Given the description of an element on the screen output the (x, y) to click on. 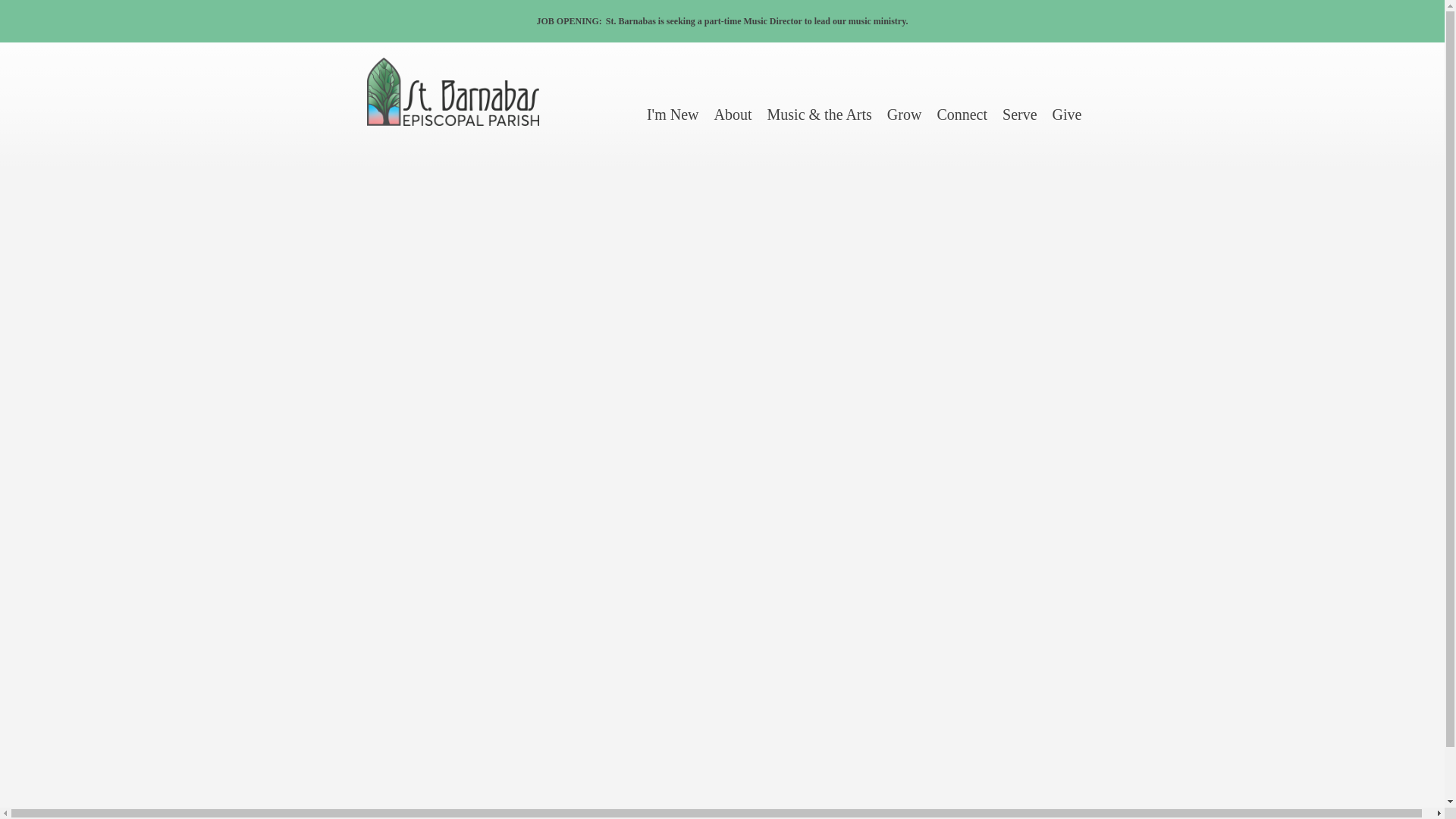
About (733, 114)
Give (1066, 114)
Connect (961, 114)
I'm New (672, 114)
Serve (1019, 114)
Grow (903, 114)
